Given the description of an element on the screen output the (x, y) to click on. 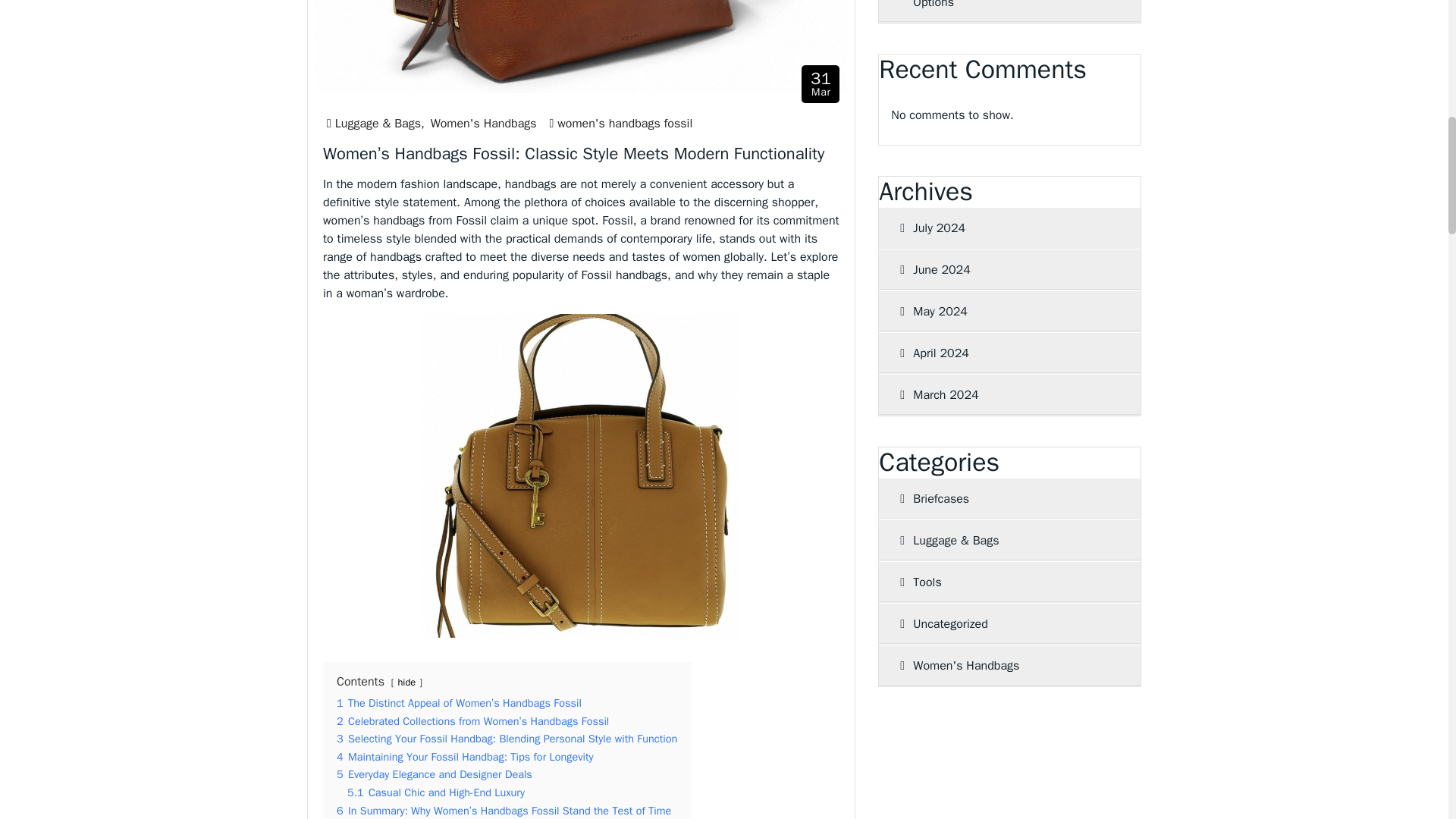
Women's Handbags (483, 123)
5.1 Casual Chic and High-End Luxury (435, 792)
women's handbags fossil (625, 123)
4 Maintaining Your Fossil Handbag: Tips for Longevity (465, 756)
hide (405, 682)
5 Everyday Elegance and Designer Deals (820, 84)
